Given the description of an element on the screen output the (x, y) to click on. 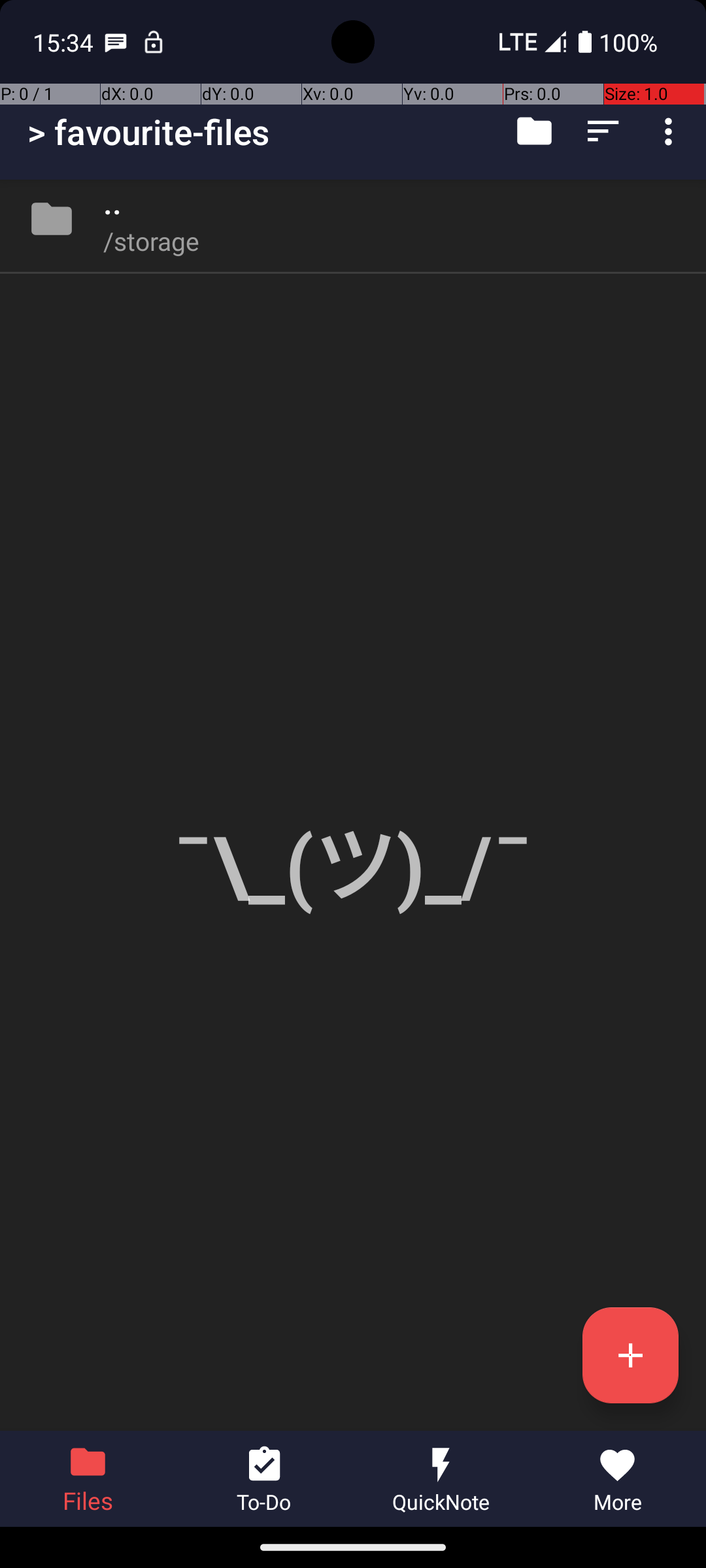
> favourite-files Element type: android.widget.TextView (148, 131)
